Given the description of an element on the screen output the (x, y) to click on. 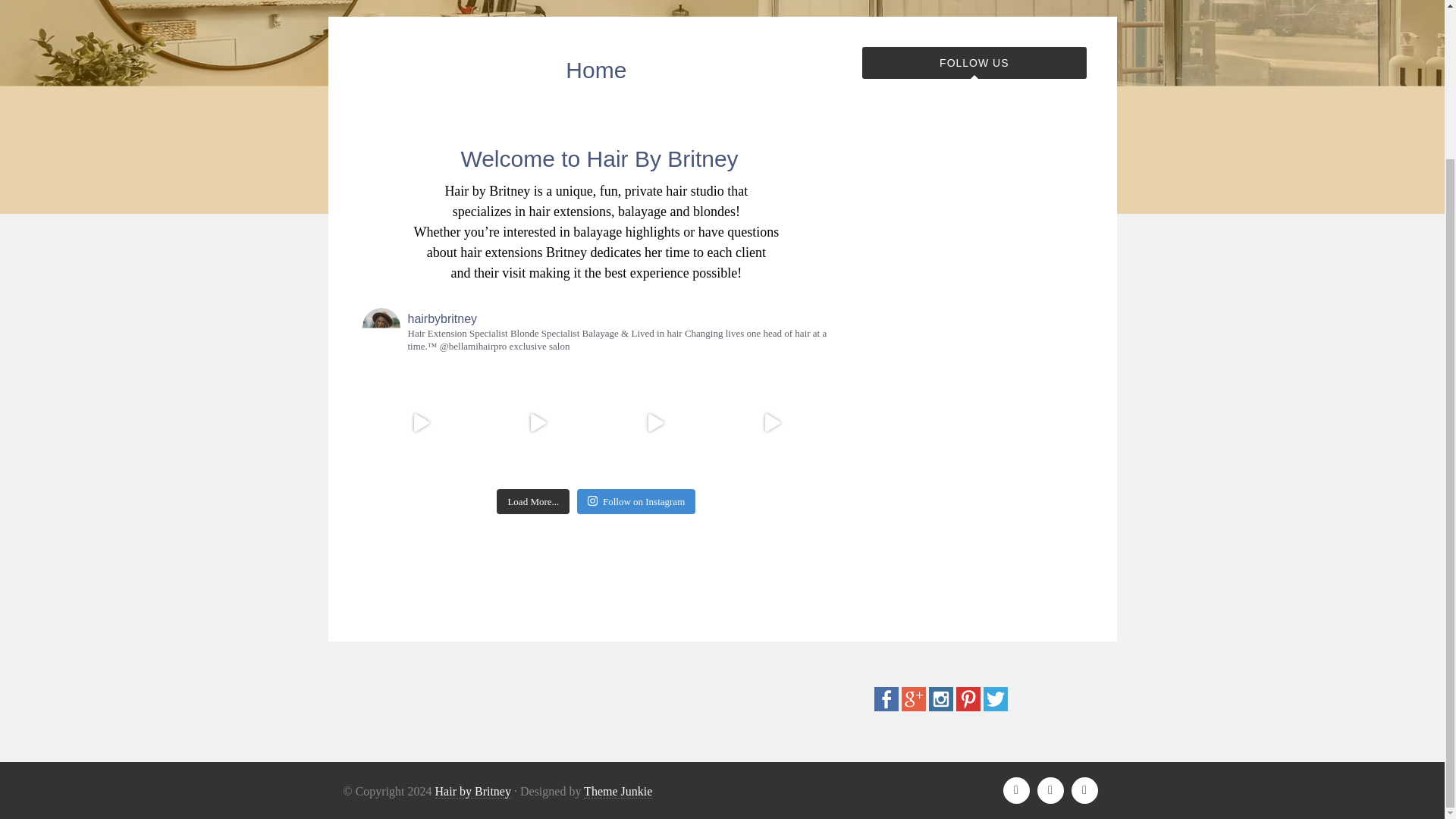
Hair by Britney (473, 791)
Facebook (886, 707)
Theme Junkie (617, 791)
Pinterest (967, 707)
Instagram (940, 707)
Follow on Instagram (635, 501)
Load More... (532, 501)
Reminder. Different lighting reflects different co (772, 422)
When hair extensions are a game changer. 2 p (537, 422)
Twitter (995, 707)
